Given the description of an element on the screen output the (x, y) to click on. 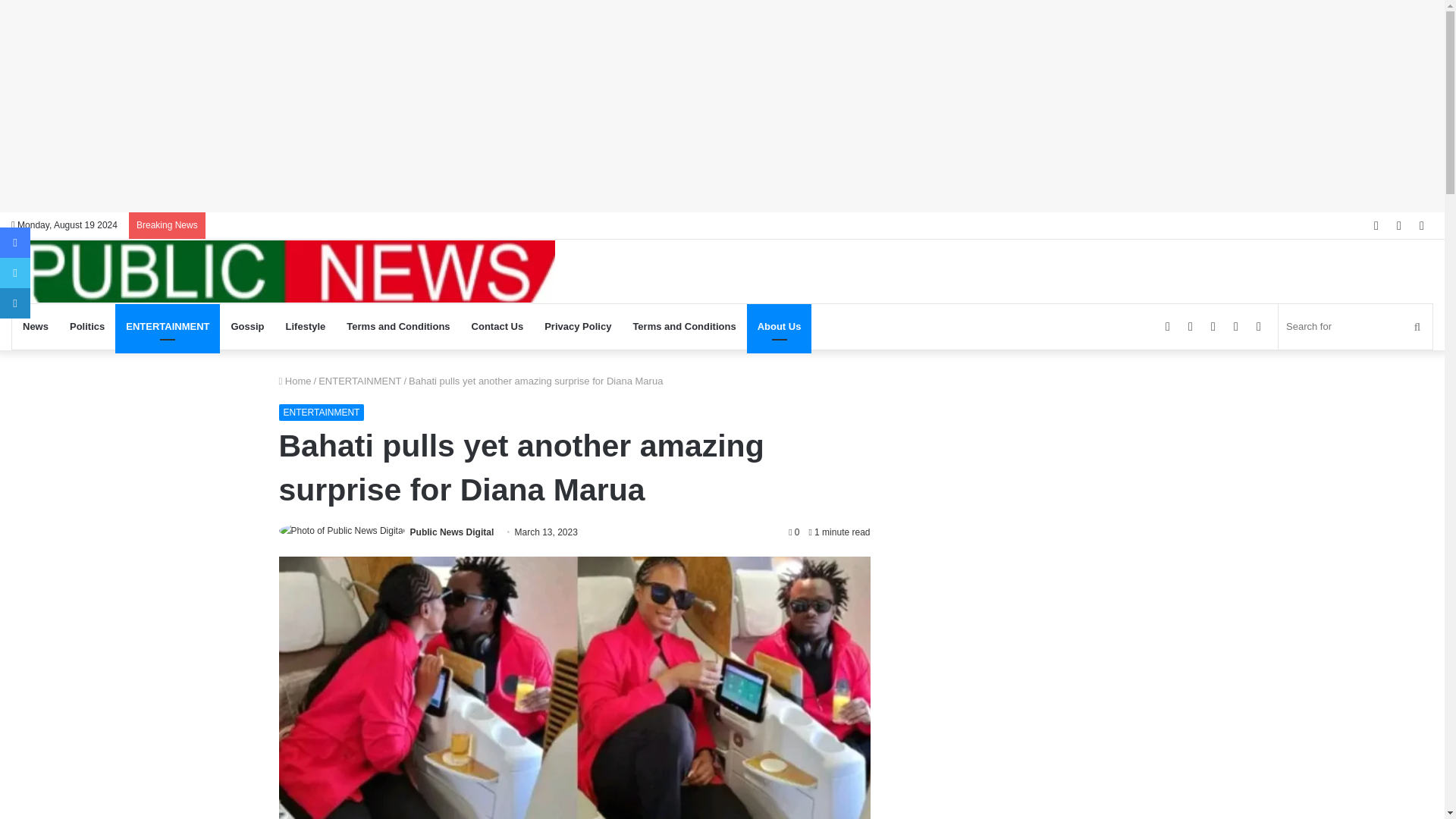
Politics (87, 326)
Terms and Conditions (398, 326)
Gossip (247, 326)
ENTERTAINMENT (167, 326)
Public News Digital (452, 532)
Terms and Conditions (683, 326)
Privacy Policy (577, 326)
Contact Us (497, 326)
ENTERTAINMENT (322, 412)
Lifestyle (305, 326)
